Given the description of an element on the screen output the (x, y) to click on. 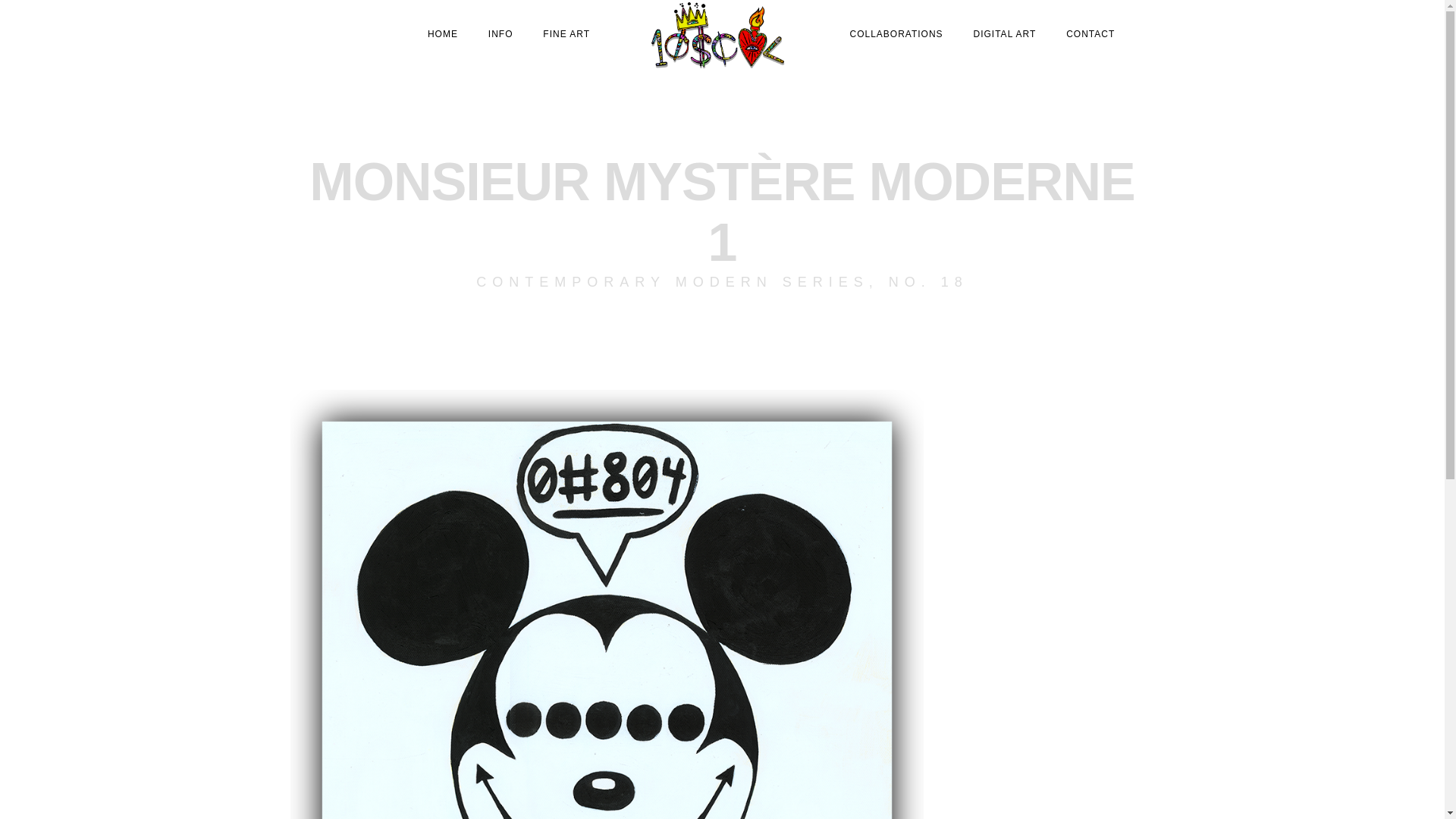
FINE ART (566, 33)
DIGITAL ART (1004, 33)
HOME (442, 33)
CONTACT (1090, 33)
INFO (500, 33)
COLLABORATIONS (895, 33)
